Given the description of an element on the screen output the (x, y) to click on. 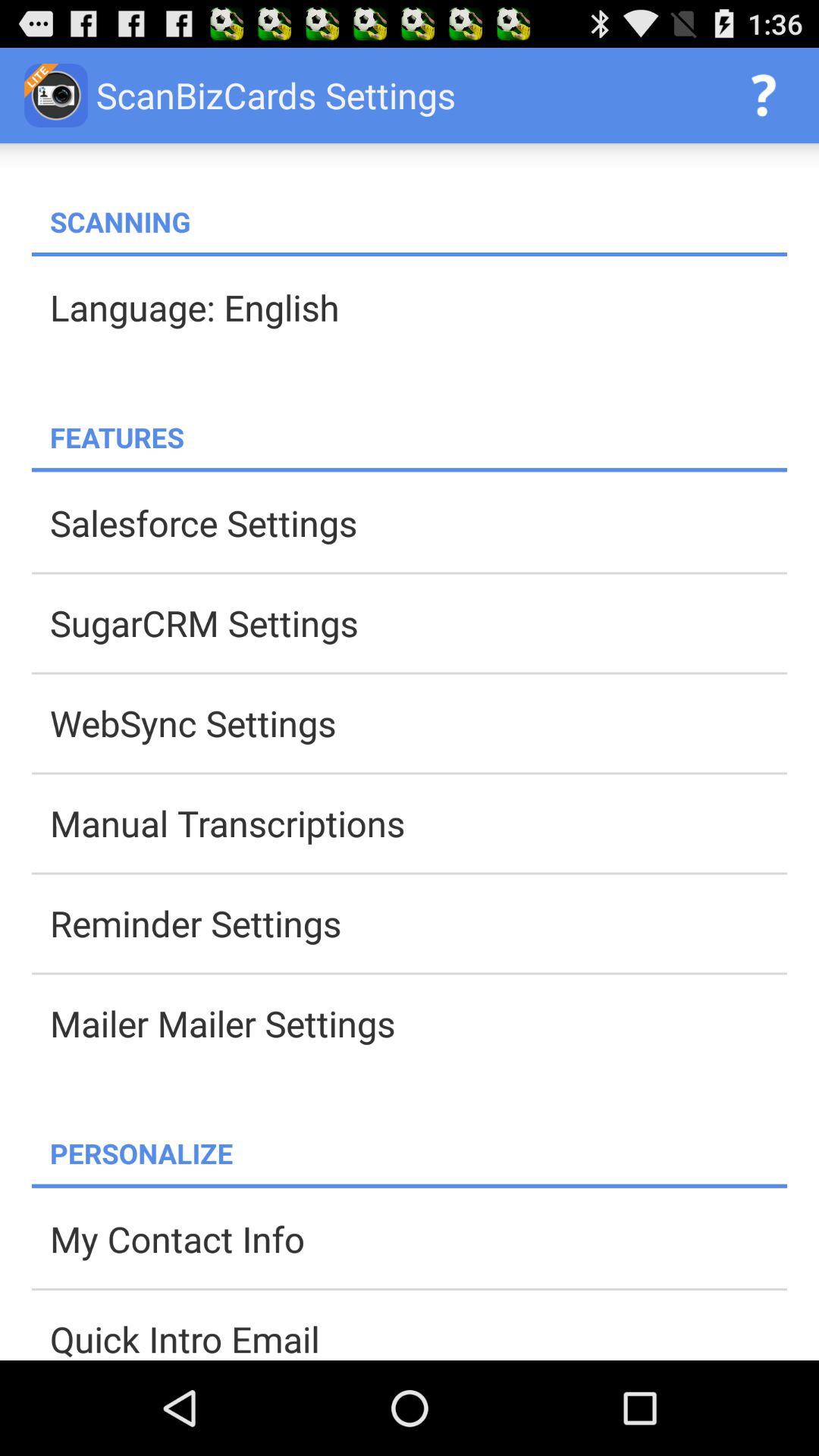
click icon above scanning app (763, 95)
